Given the description of an element on the screen output the (x, y) to click on. 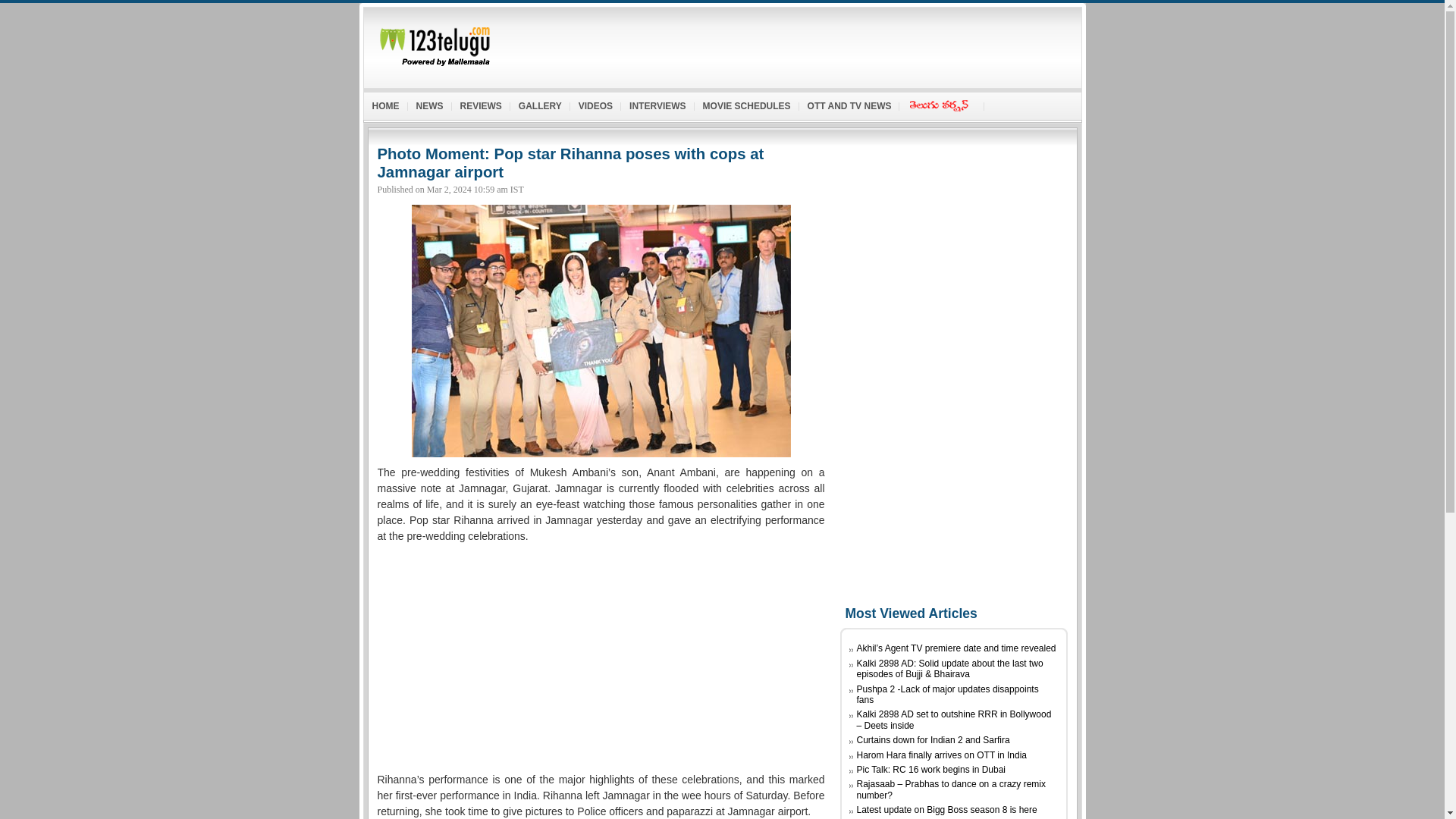
NEWS (429, 103)
MOVIE SCHEDULES (746, 103)
Curtains down for Indian 2 and Sarfira (933, 739)
Latest update on Bigg Boss season 8 is here (946, 809)
Pic Talk: RC 16 work begins in Dubai (931, 769)
Harom Hara finally arrives on OTT in India (942, 755)
OTT AND TV NEWS (849, 103)
HOME (385, 103)
VIDEOS (595, 103)
REVIEWS (481, 103)
GALLERY (540, 103)
Advertisement (601, 658)
Advertisement (799, 43)
Pushpa 2 -Lack of major updates disappoints fans (948, 694)
INTERVIEWS (657, 103)
